Given the description of an element on the screen output the (x, y) to click on. 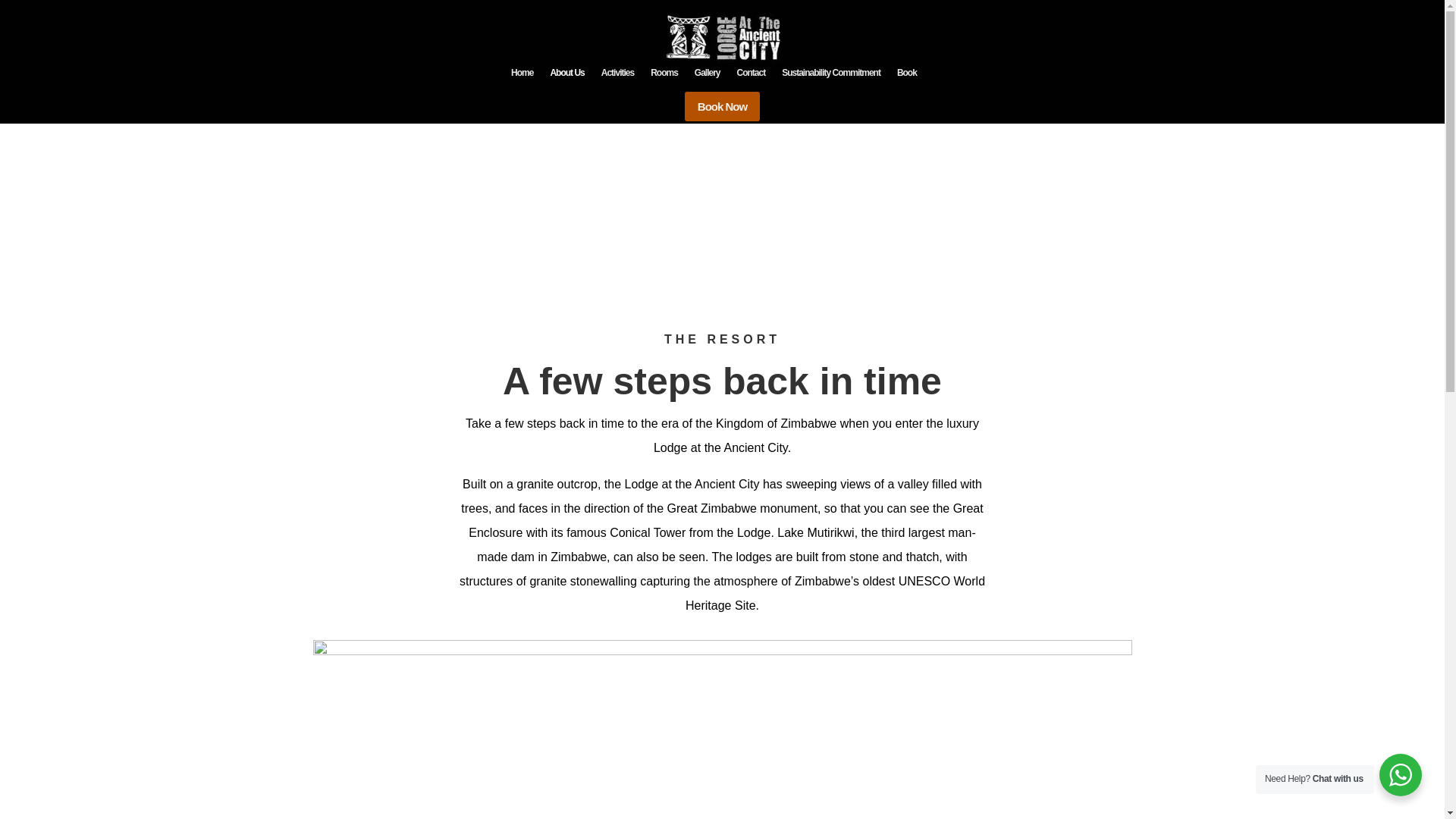
Activities (617, 79)
Sustainability Commitment (830, 79)
Home (521, 79)
Gallery (707, 79)
Contact (750, 79)
Rooms (664, 79)
About Us (566, 79)
Book Now (722, 113)
